Given the description of an element on the screen output the (x, y) to click on. 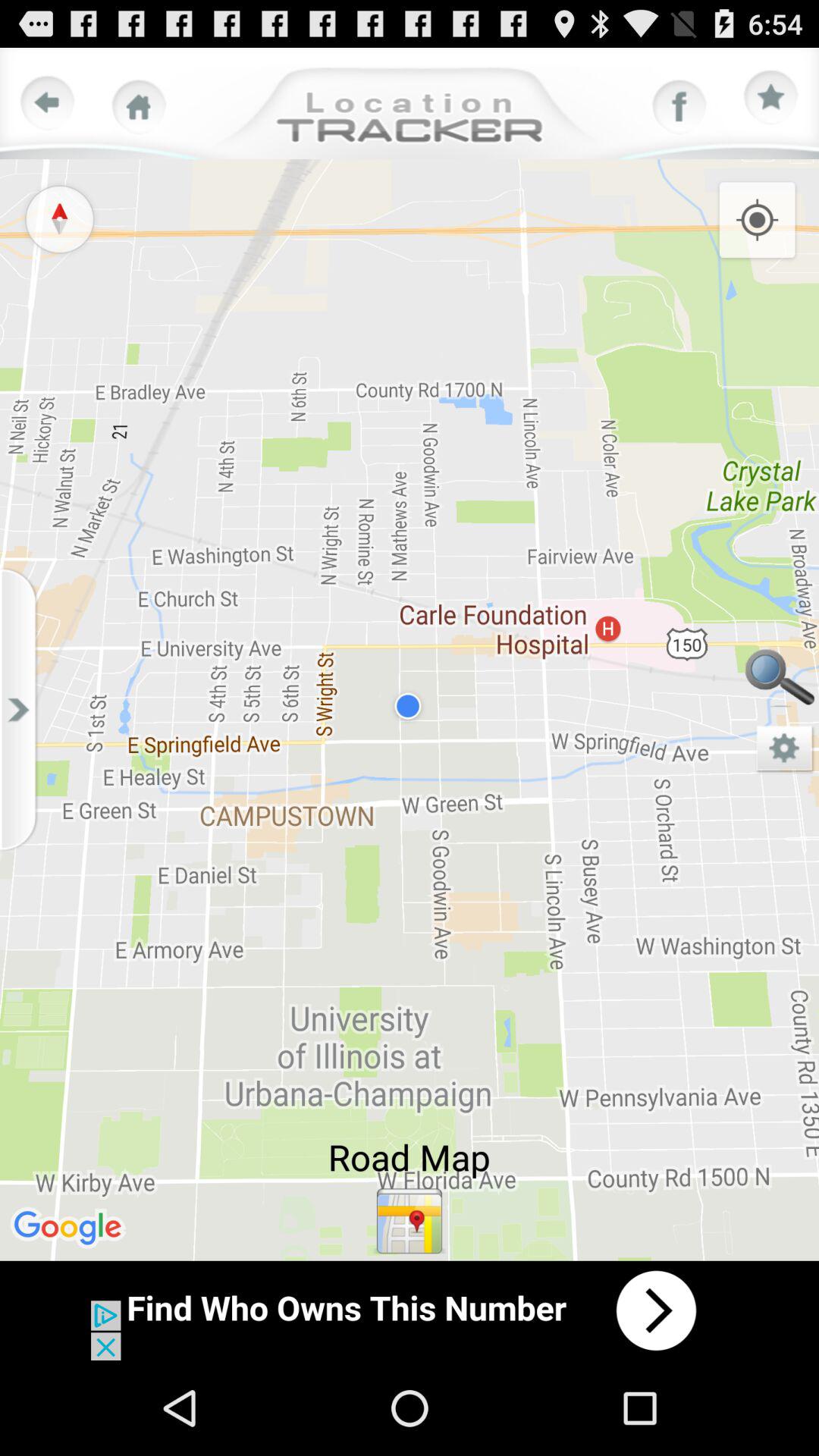
add to favourites (771, 97)
